Given the description of an element on the screen output the (x, y) to click on. 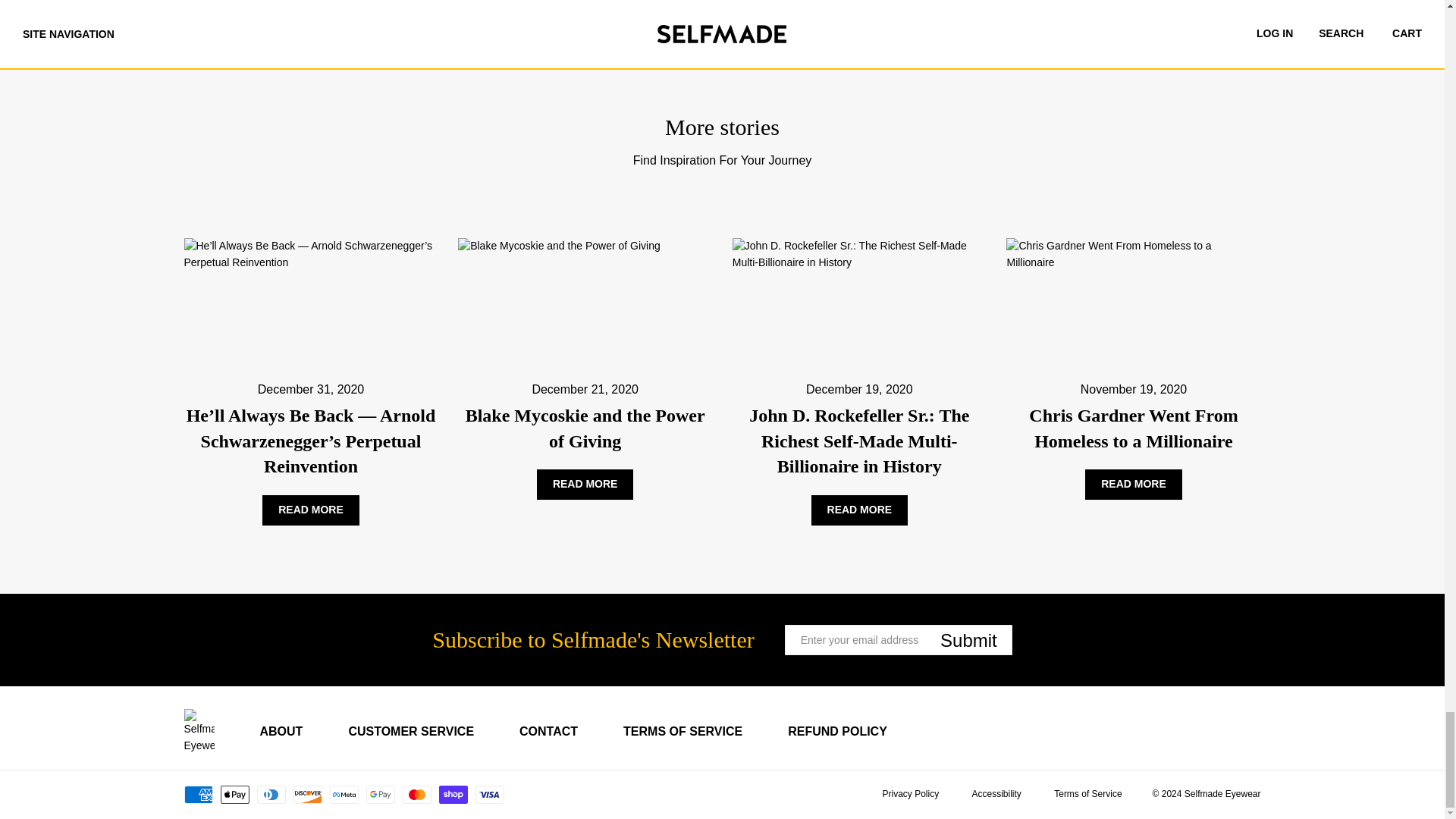
American Express (197, 794)
Google Pay (379, 794)
Diners Club (270, 794)
Blake Mycoskie and the Power of Giving (584, 428)
Meta Pay (343, 794)
Shop Pay (452, 794)
Visa (488, 794)
READ MORE (585, 484)
READ MORE (310, 510)
Discover (306, 794)
Apple Pay (233, 794)
Mastercard (415, 794)
